Given the description of an element on the screen output the (x, y) to click on. 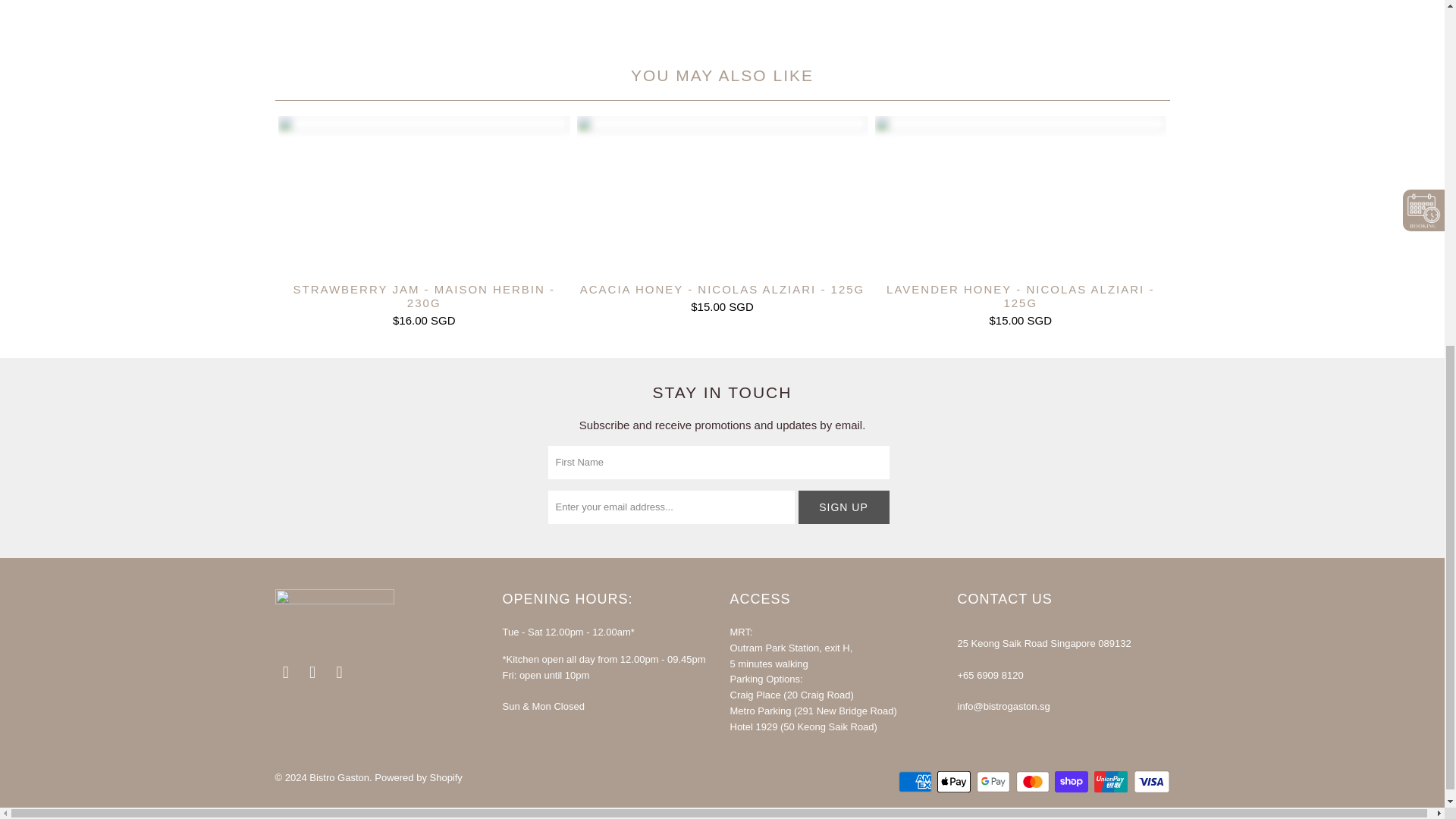
Mastercard (1034, 780)
Shop Pay (1072, 780)
Bistro Gaston on Instagram (312, 672)
American Express (916, 780)
Visa (1150, 780)
Apple Pay (955, 780)
Union Pay (1112, 780)
Email Bistro Gaston (339, 672)
Sign Up (842, 507)
Google Pay (994, 780)
Bistro Gaston on Facebook (286, 672)
